Given the description of an element on the screen output the (x, y) to click on. 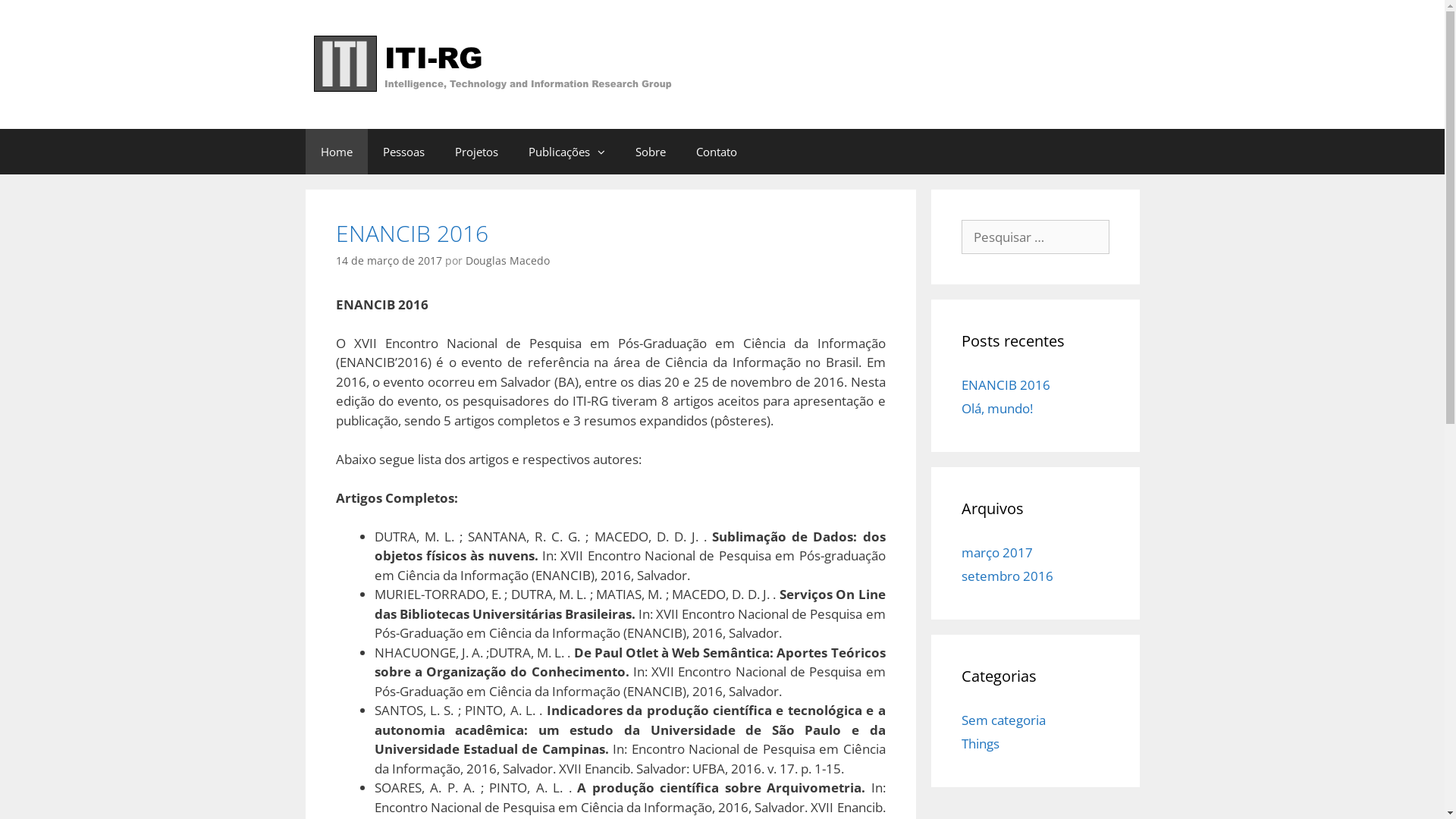
Pesquisar Element type: text (44, 17)
Projetos Element type: text (476, 151)
Pessoas Element type: text (403, 151)
Douglas Macedo Element type: text (507, 260)
Sobre Element type: text (650, 151)
Contato Element type: text (716, 151)
ITI-RG Element type: hover (491, 64)
Sem categoria Element type: text (1003, 719)
Home Element type: text (335, 151)
ENANCIB 2016 Element type: text (411, 232)
setembro 2016 Element type: text (1007, 575)
Pesquisar por: Element type: hover (1035, 236)
ITI-RG Element type: hover (491, 63)
ENANCIB 2016 Element type: text (1005, 384)
Things Element type: text (980, 742)
